Given the description of an element on the screen output the (x, y) to click on. 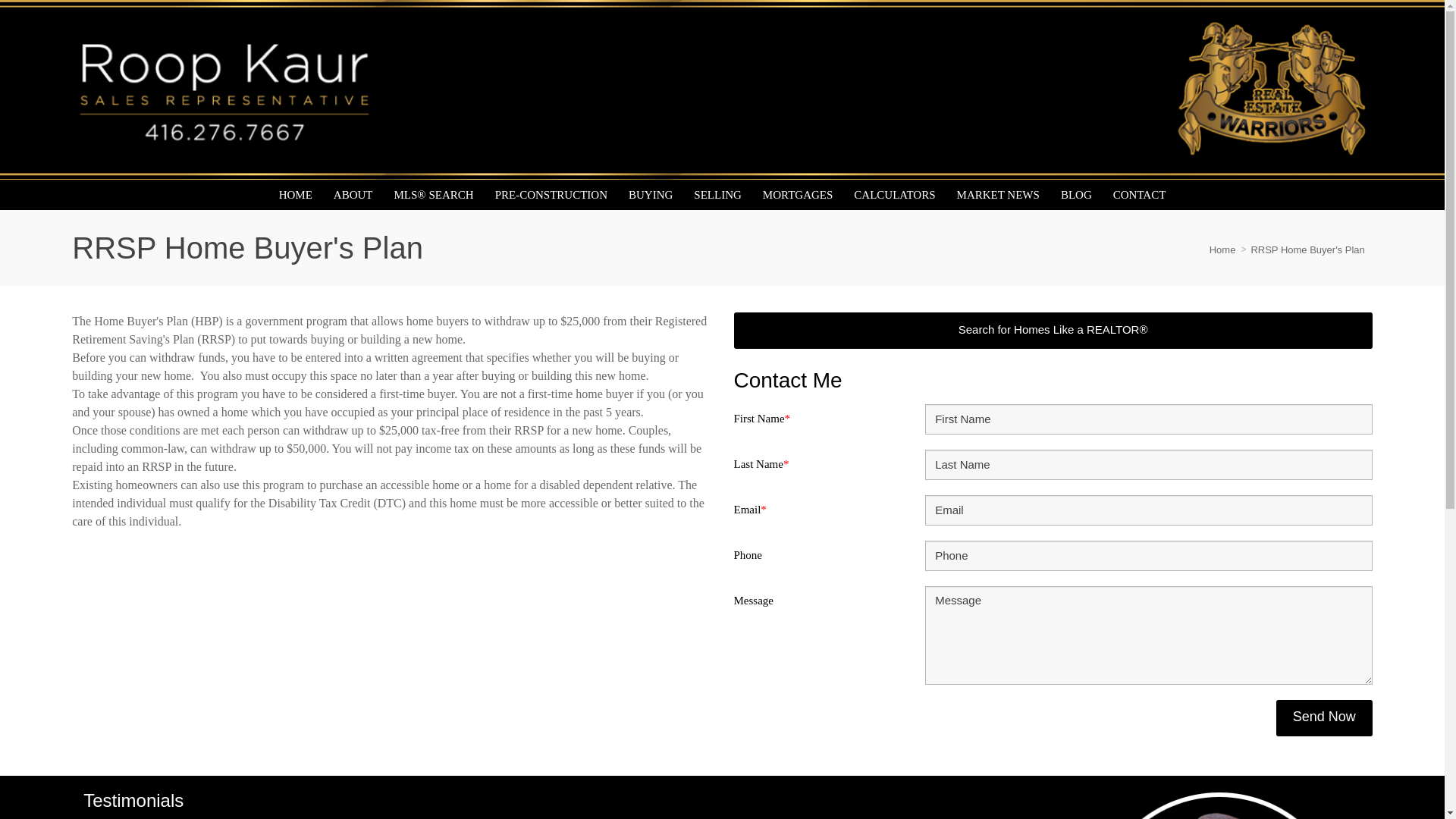
PRE-CONSTRUCTION (550, 194)
BUYING (649, 194)
HOME (295, 194)
ABOUT (353, 194)
